Given the description of an element on the screen output the (x, y) to click on. 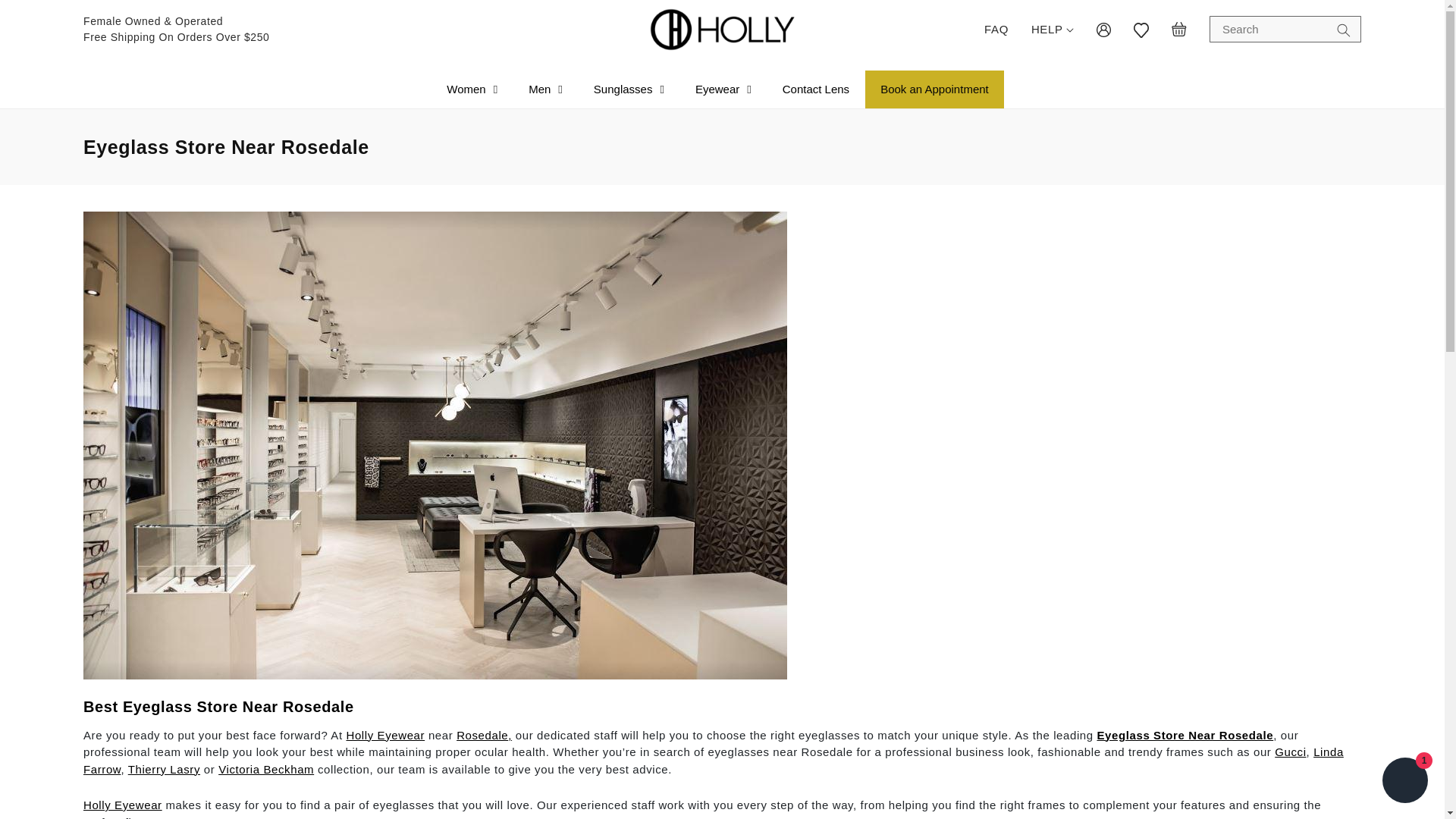
Skip to content (45, 17)
FAQ (996, 29)
HELP (1052, 29)
Cart (1179, 29)
Women (471, 89)
Women (471, 89)
